Given the description of an element on the screen output the (x, y) to click on. 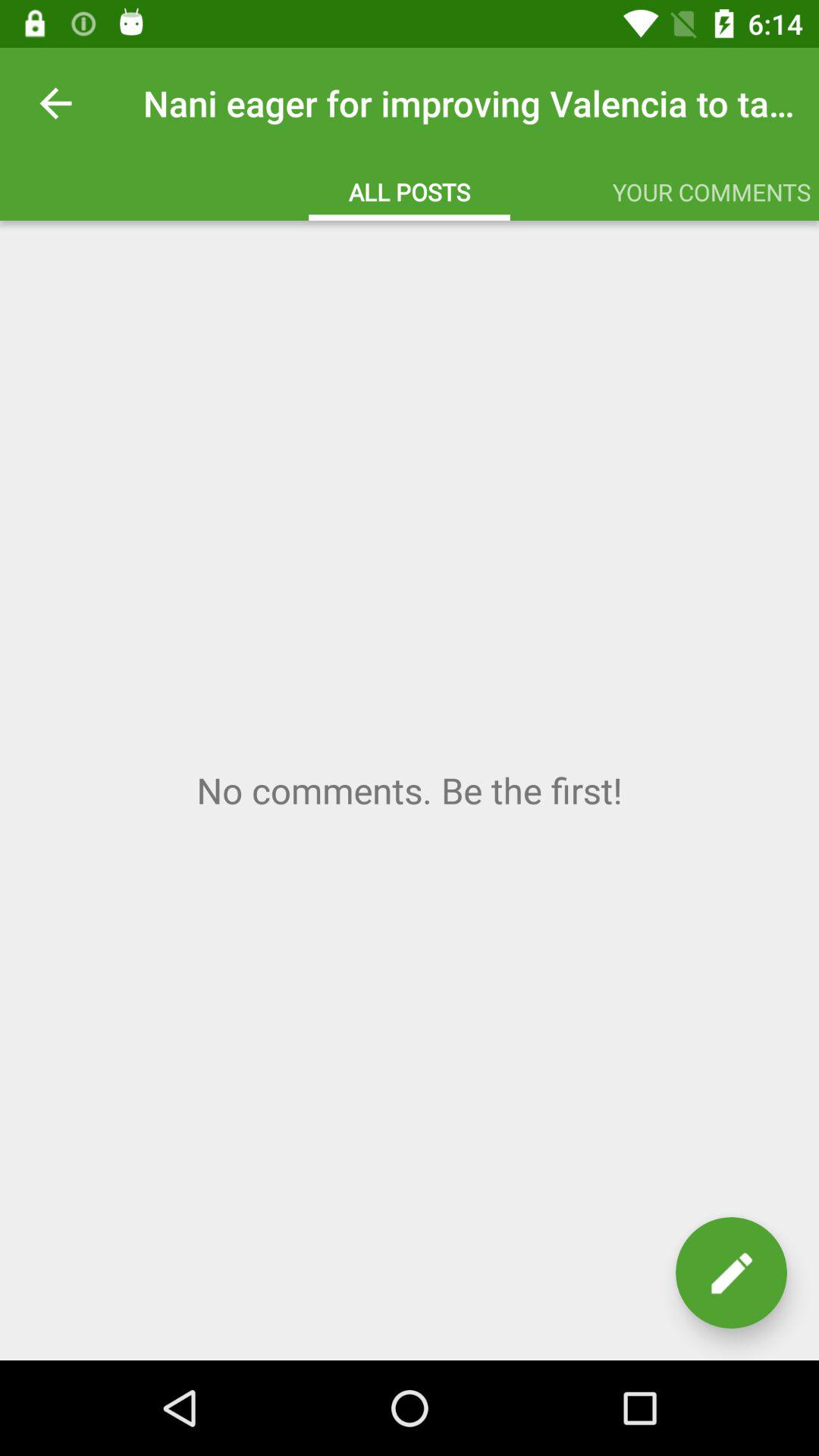
new post (731, 1272)
